Given the description of an element on the screen output the (x, y) to click on. 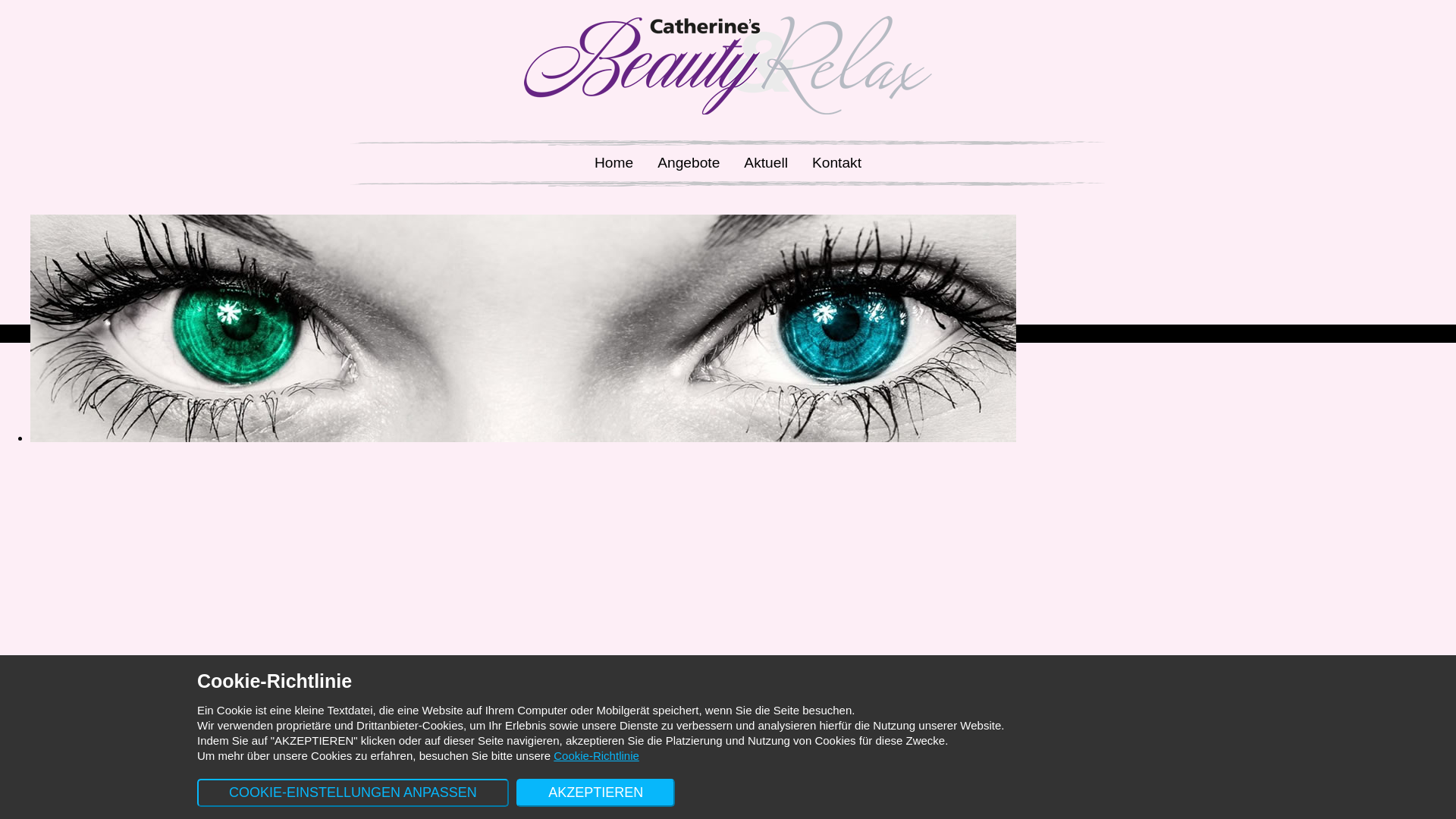
Datenschutz Element type: text (767, 332)
Impressum Element type: text (680, 332)
Home Element type: text (613, 163)
Cookie-Richtlinie Element type: text (596, 755)
Angebote Element type: text (688, 163)
Catherine's Beauty & Relax Element type: text (751, 303)
AKZEPTIEREN Element type: text (595, 792)
COOKIE-EINSTELLUNGEN ANPASSEN Element type: text (352, 792)
Kontakt Element type: text (836, 163)
Aktuell Element type: text (765, 163)
